Given the description of an element on the screen output the (x, y) to click on. 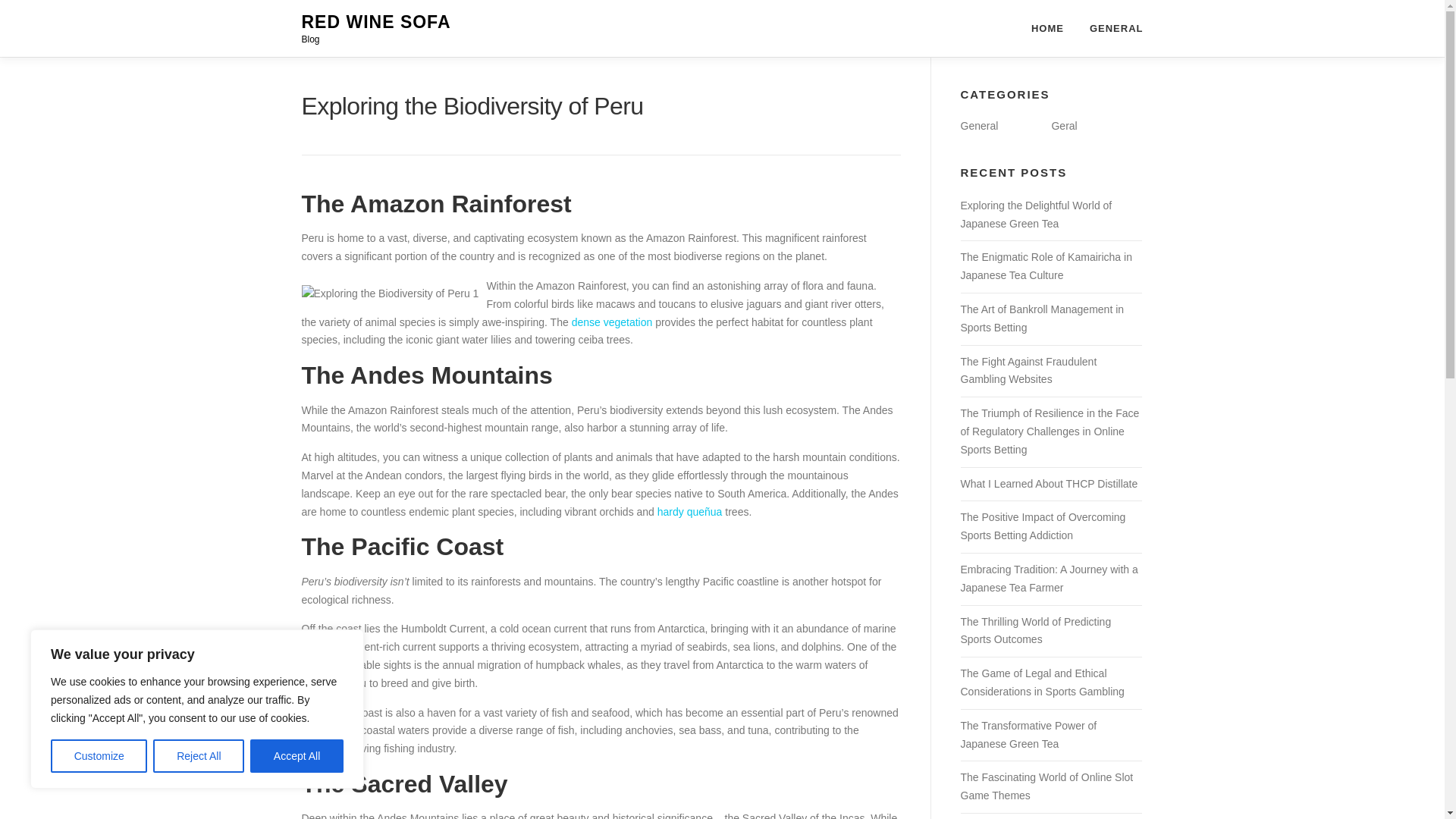
The Art of Bankroll Management in Sports Betting (1041, 318)
The Enigmatic Role of Kamairicha in Japanese Tea Culture (1045, 265)
The Fight Against Fraudulent Gambling Websites (1027, 370)
Accept All (296, 756)
What I Learned About THCP Distillate (1048, 483)
Geral (1064, 125)
Reject All (198, 756)
Exploring the Delightful World of Japanese Green Tea (1035, 214)
GENERAL (1109, 28)
HOME (1047, 28)
Customize (98, 756)
General (978, 125)
The Thrilling World of Predicting Sports Outcomes (1034, 630)
RED WINE SOFA (376, 21)
